Given the description of an element on the screen output the (x, y) to click on. 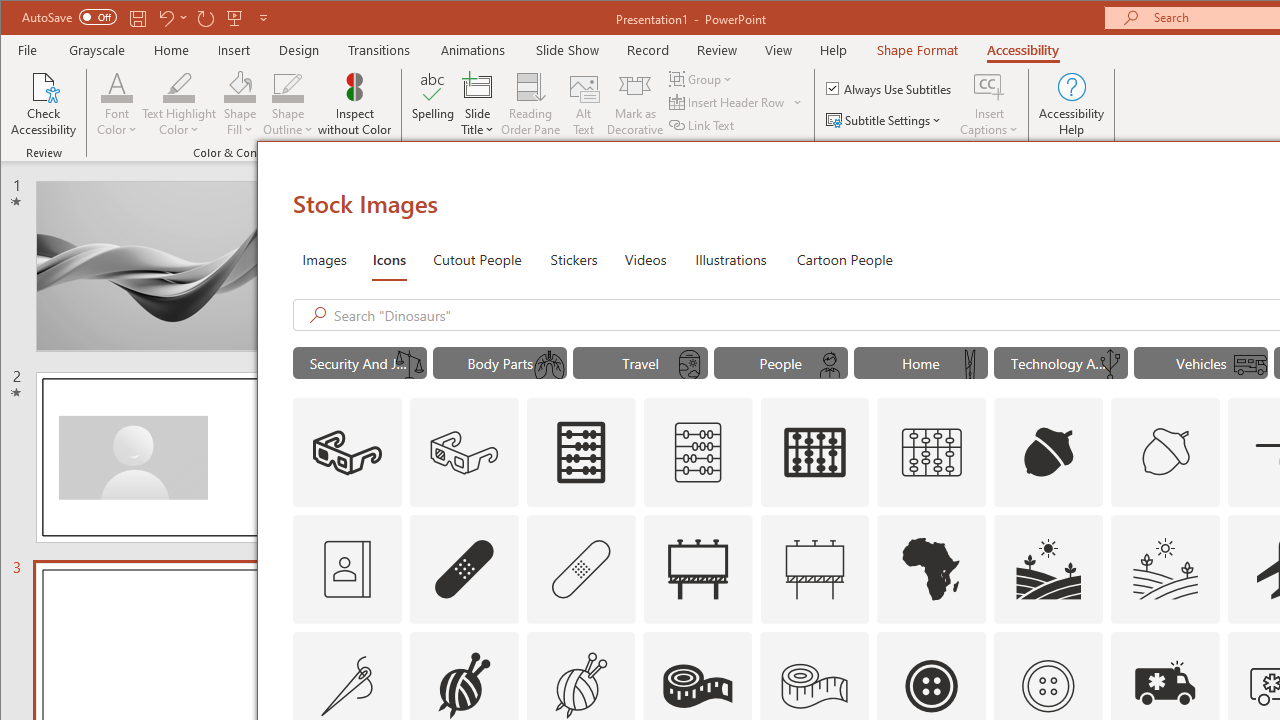
Cartoon People (844, 258)
AutomationID: Icons_Abacus1_M (931, 452)
AutomationID: Icons_Peg_M (970, 365)
AutomationID: Icons_WeightsUneven1_M (408, 365)
AutomationID: Icons_Africa (931, 568)
Mark as Decorative (635, 104)
Insert Header Row (735, 101)
